Given the description of an element on the screen output the (x, y) to click on. 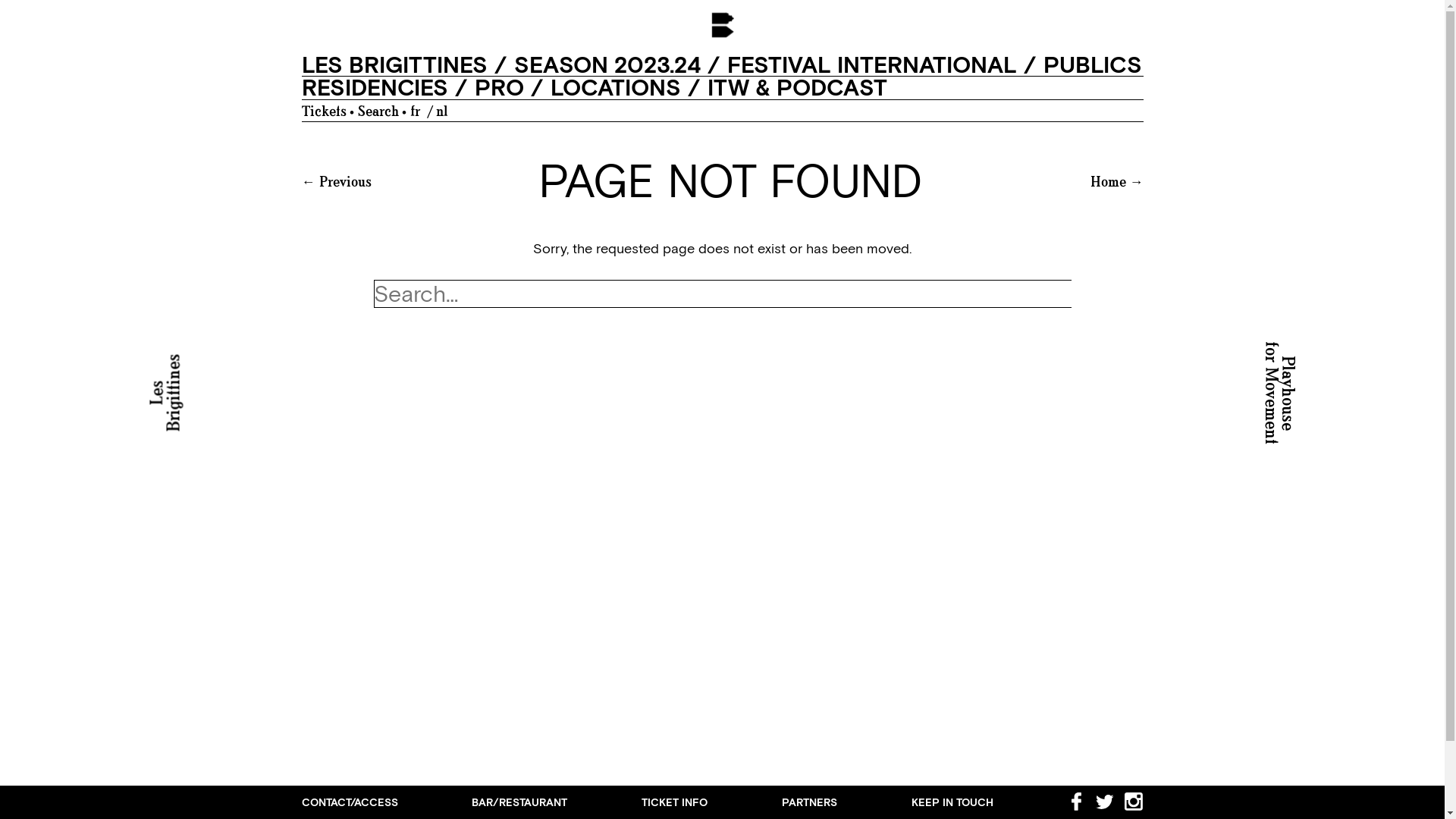
Search Element type: text (377, 110)
Nederlands
nl Element type: text (441, 110)
ITW & PODCAST Element type: text (796, 87)
CONTACT/ACCESS Element type: text (349, 802)
Tickets Element type: text (323, 110)
PRO Element type: text (499, 87)
BAR/RESTAURANT Element type: text (519, 802)
KEEP IN TOUCH Element type: text (952, 802)
PUBLICS Element type: text (1092, 64)
